Given the description of an element on the screen output the (x, y) to click on. 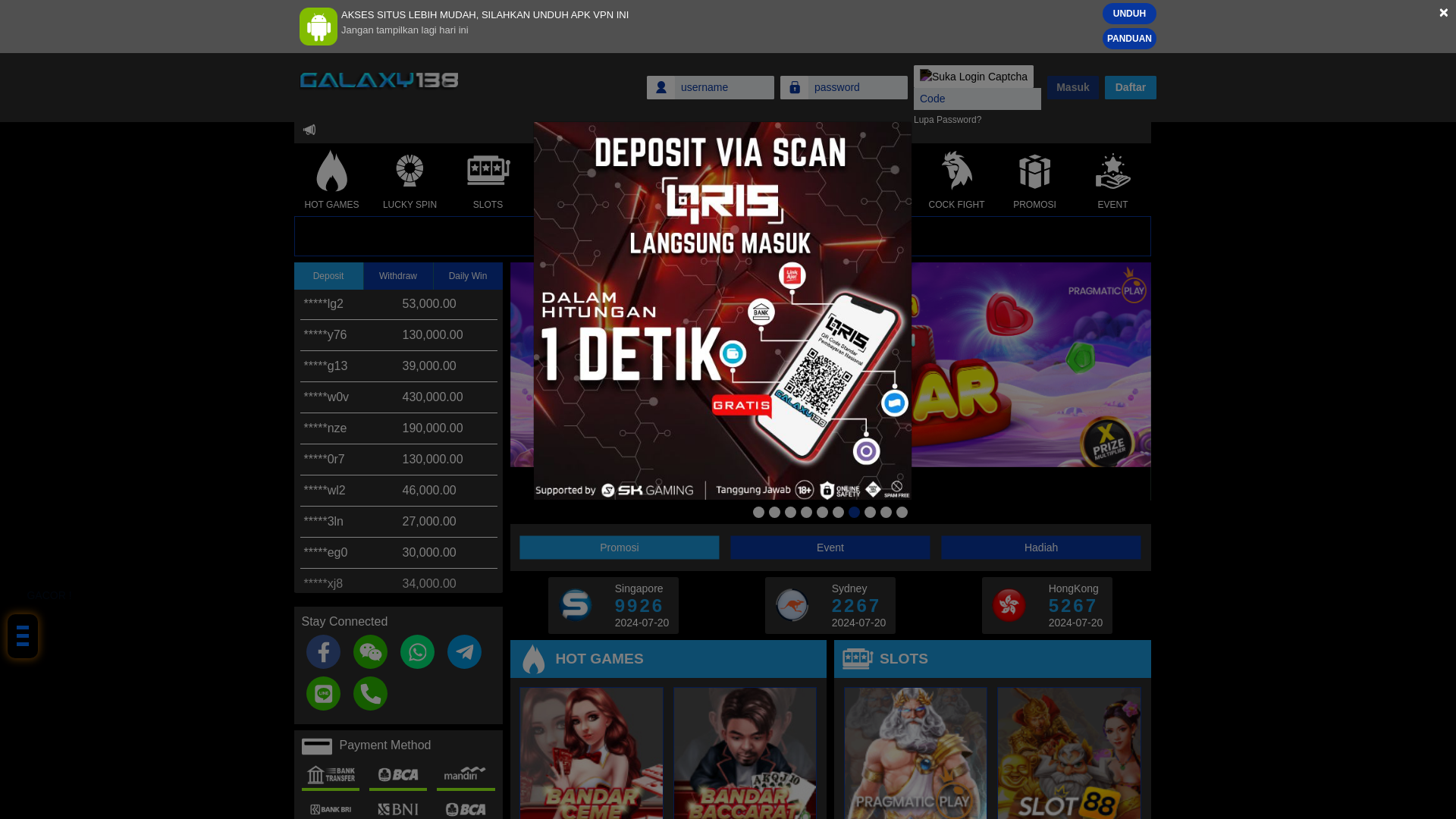
BCA DIGITAL (465, 807)
Masuk (1072, 87)
MANDIRI (465, 774)
PANDUAN (1129, 38)
BRI (330, 807)
BNI (398, 807)
BCA (398, 774)
Lupa Password? (947, 119)
Daily Win (467, 275)
Withdraw (398, 275)
Rp. 6,319,886,915.72 (722, 236)
Deposit (329, 275)
TRANSFER (330, 774)
